Given the description of an element on the screen output the (x, y) to click on. 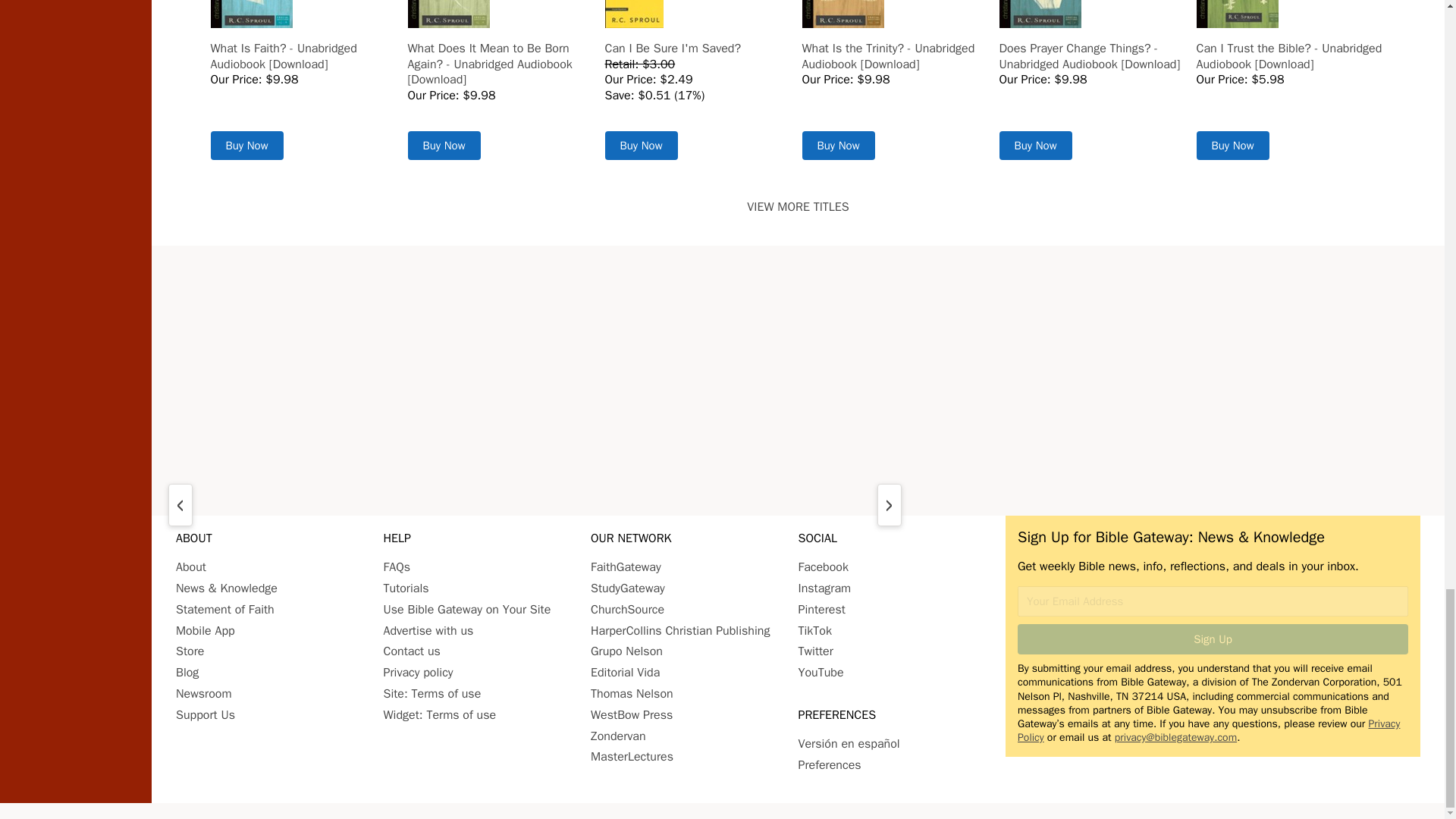
Set your preferences for BibleGateway.com (828, 765)
Sign Up (1212, 639)
Widget: Terms of use (440, 714)
Site: Terms of use (432, 693)
